Given the description of an element on the screen output the (x, y) to click on. 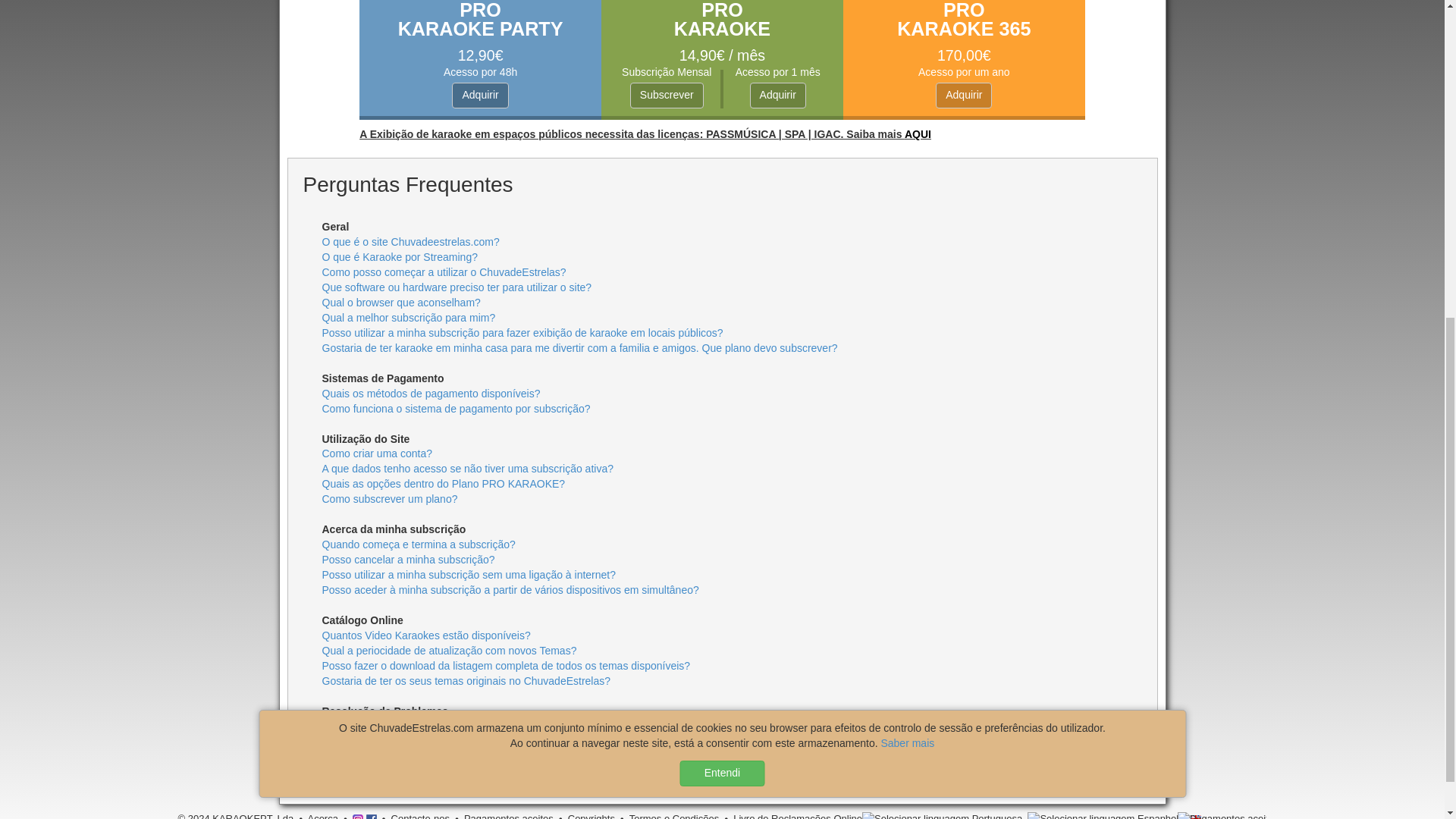
Qual o browser que aconselham? (400, 302)
Adquirir (963, 95)
Como criar uma conta? (376, 453)
Que software ou hardware preciso ter para utilizar o site? (456, 287)
AQUI (917, 133)
Adquirir (479, 95)
Adquirir (777, 95)
Subscrever (666, 95)
